Given the description of an element on the screen output the (x, y) to click on. 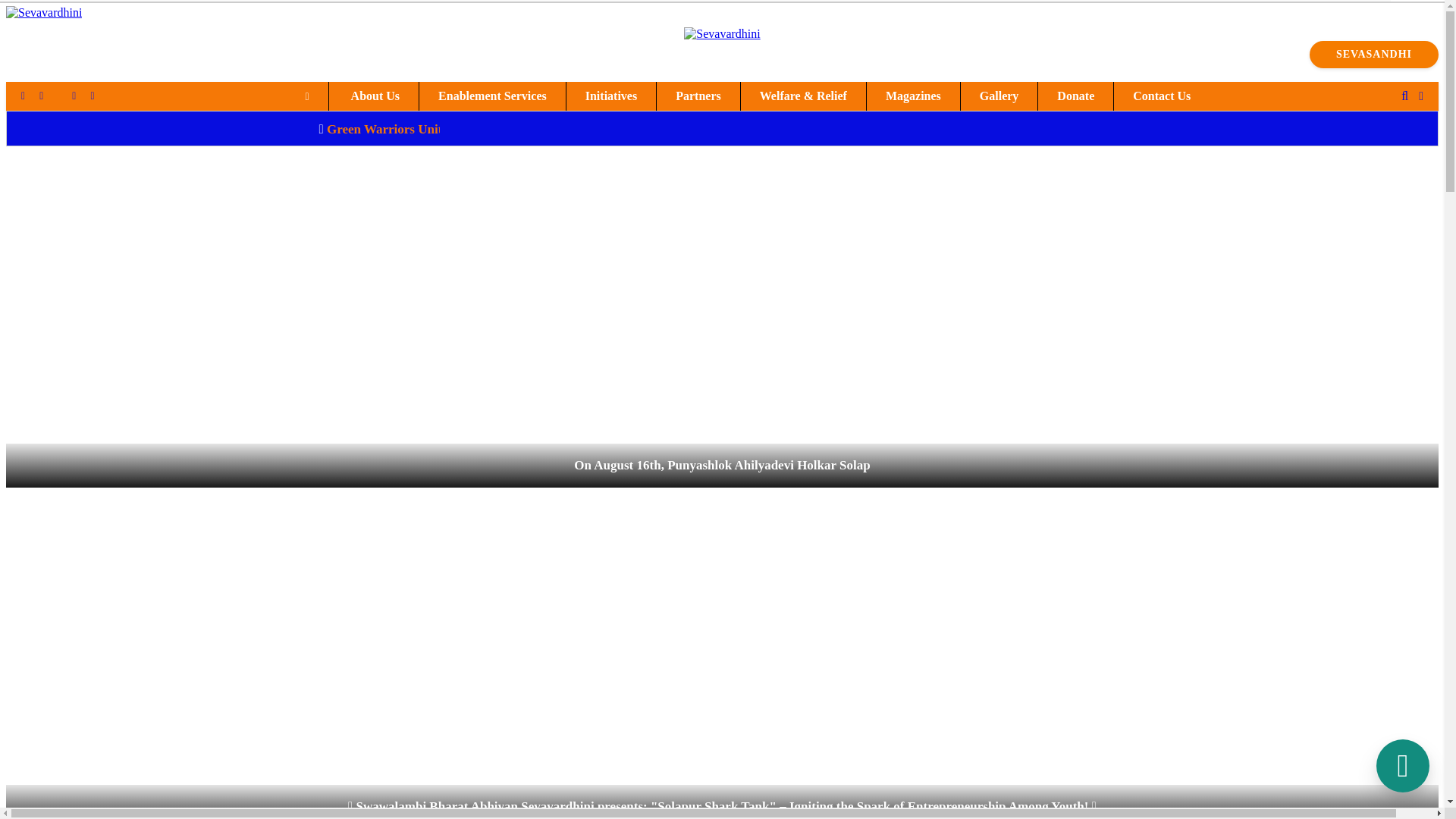
Initiatives (611, 95)
Enablement Services (492, 95)
About Us (375, 95)
SEVASANDHI (1373, 53)
